Given the description of an element on the screen output the (x, y) to click on. 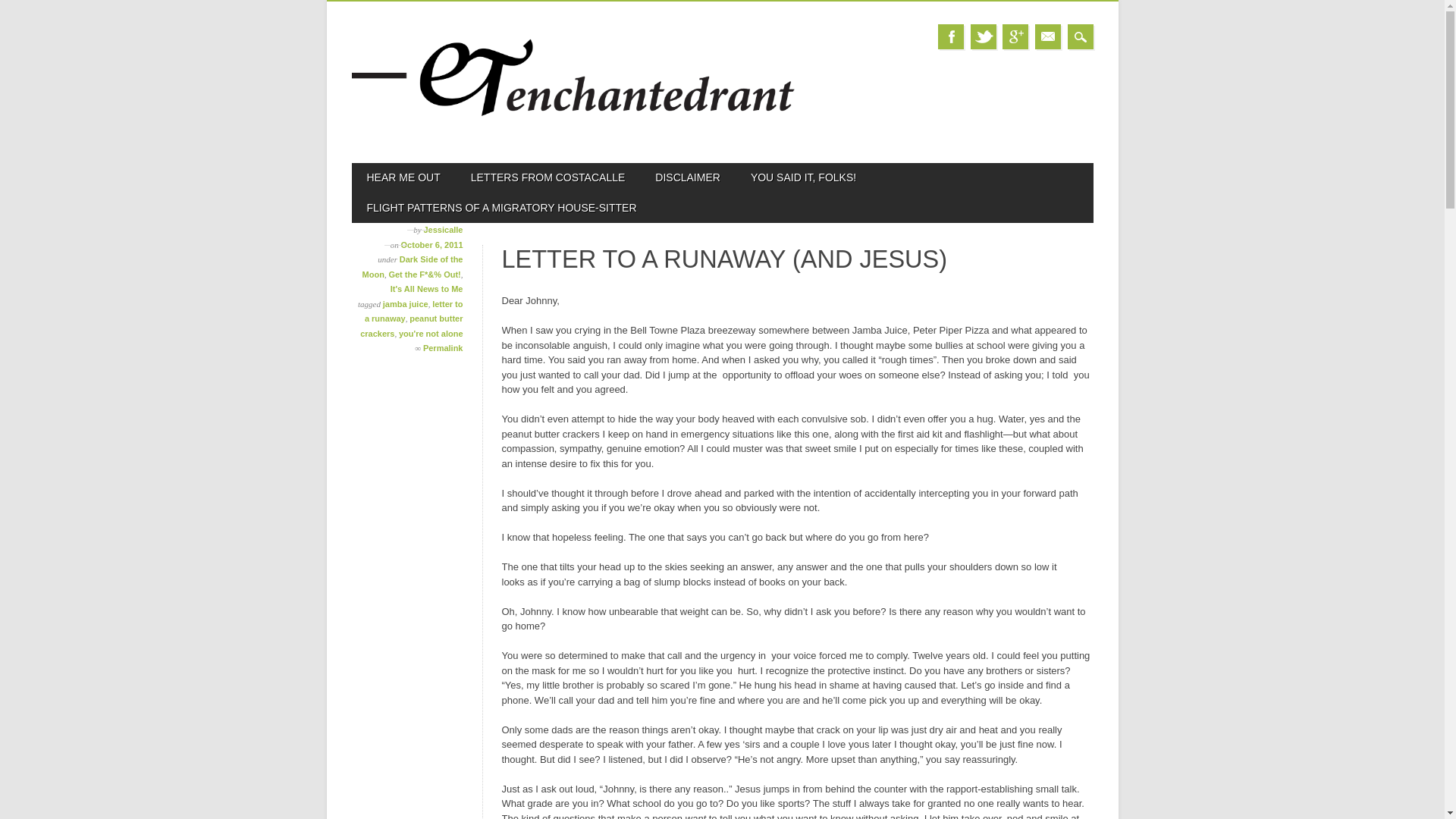
LETTERS FROM COSTACALLE (547, 177)
Dark Side of the Moon (412, 266)
letter to a runaway (414, 311)
Facebook (950, 36)
Permalink (443, 347)
DISCLAIMER (687, 177)
you're not alone (430, 333)
9:13 pm (432, 244)
View all posts by Jessicalle (443, 229)
Enchanted Rant (574, 136)
jamba juice (405, 303)
HEAR ME OUT (403, 177)
October 6, 2011 (432, 244)
Jessicalle (443, 229)
Email (1048, 36)
